Given the description of an element on the screen output the (x, y) to click on. 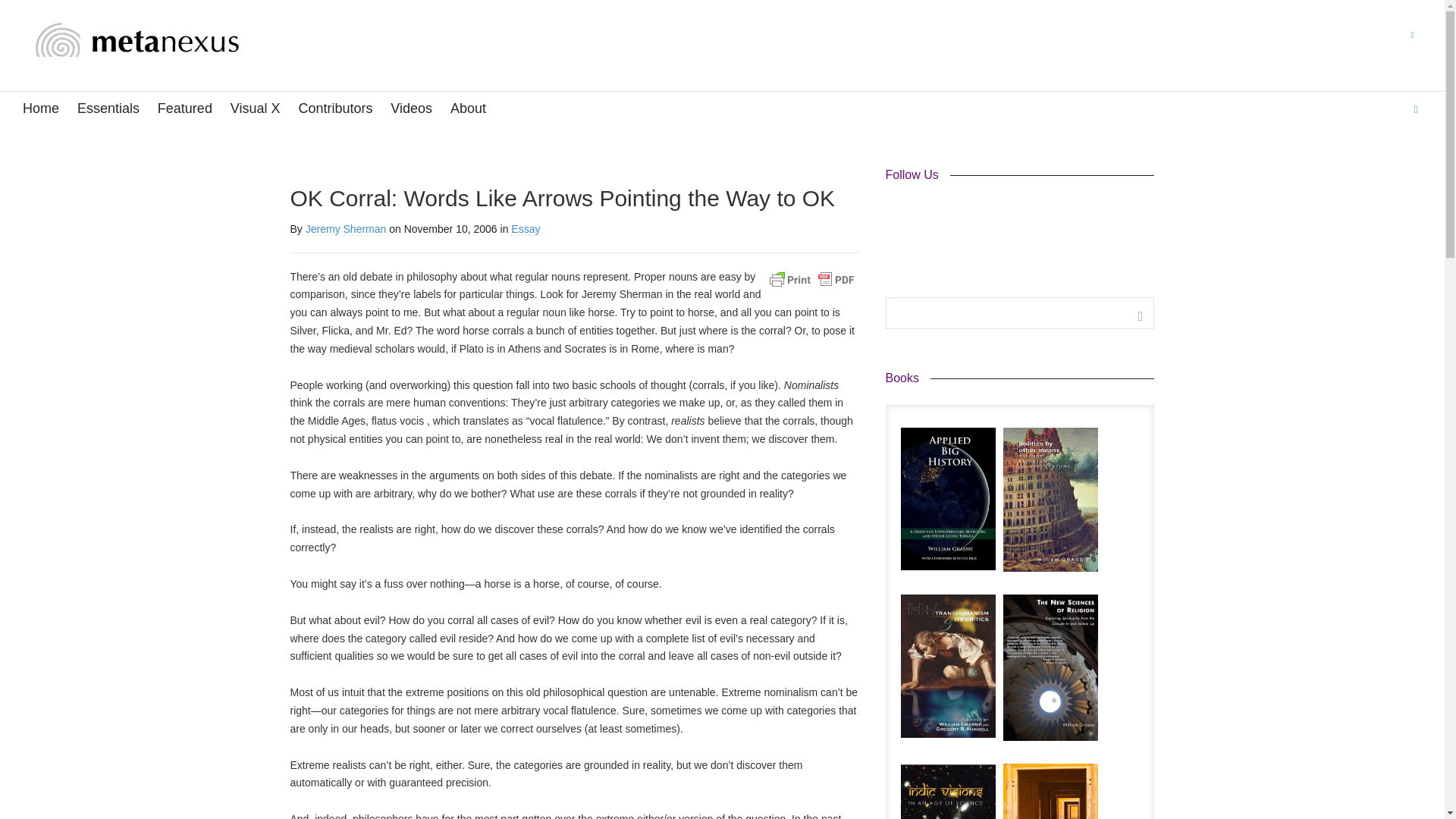
Google (978, 213)
LinkedIn (951, 213)
Videos (411, 109)
Jeremy Sherman (346, 228)
Visual X (255, 109)
About (467, 109)
Vimeo (1005, 213)
Essay (525, 228)
Contributors (335, 109)
Twitter (924, 213)
Essentials (108, 109)
Featured (184, 109)
Home (41, 109)
Facebook (897, 213)
